Given the description of an element on the screen output the (x, y) to click on. 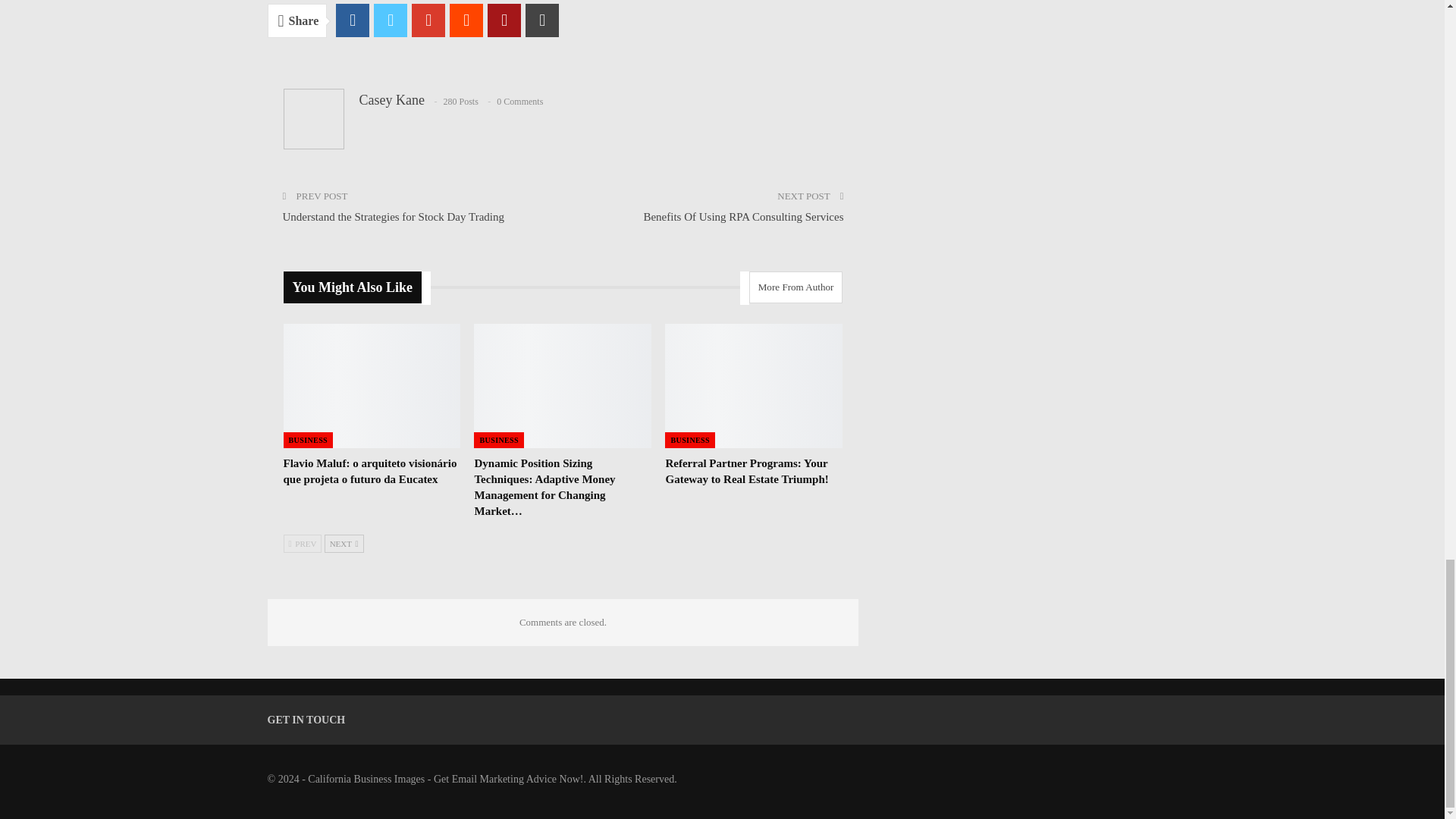
Next (344, 543)
Previous (302, 543)
